Given the description of an element on the screen output the (x, y) to click on. 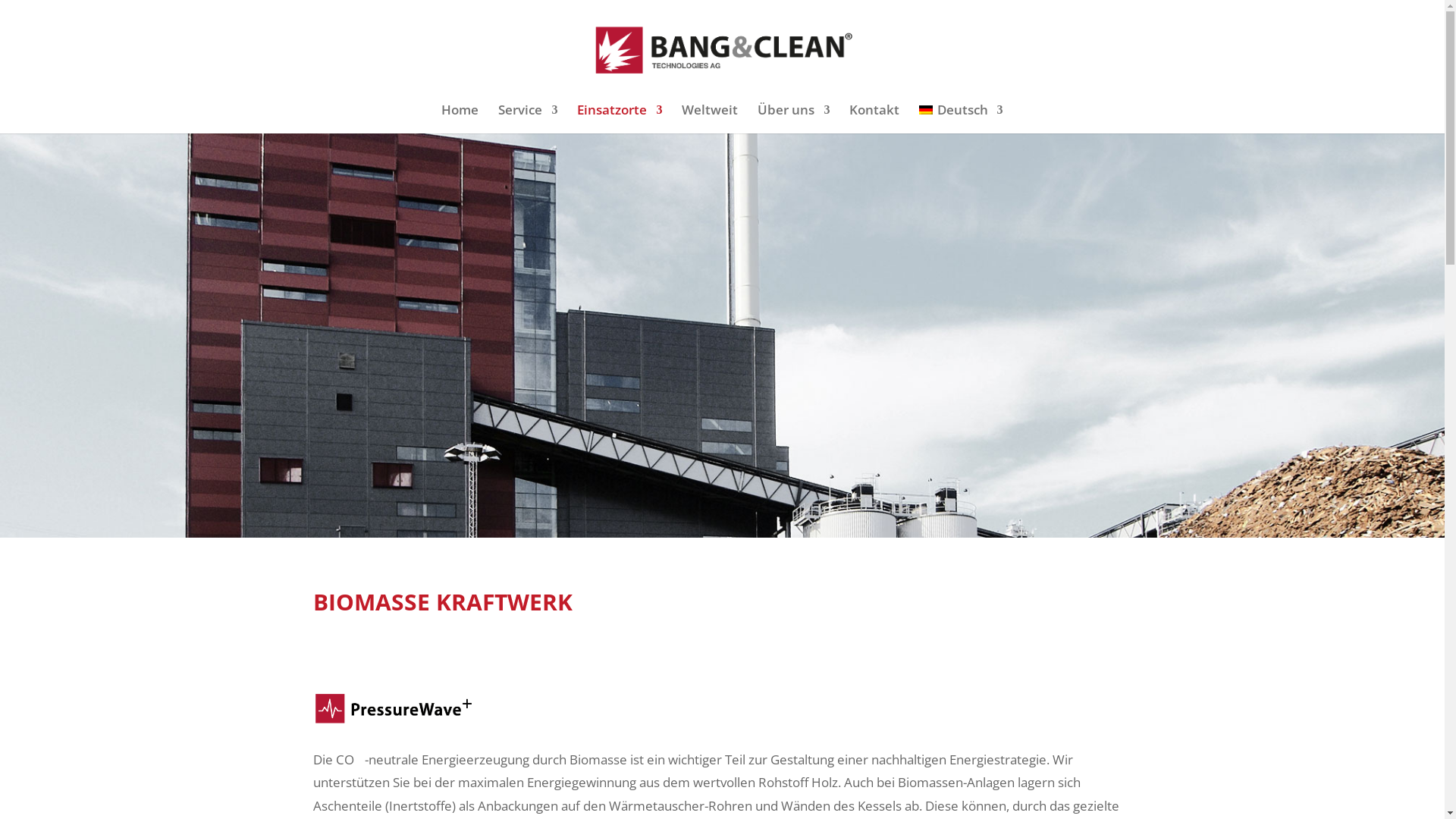
Deutsch Element type: text (960, 118)
Weltweit Element type: text (709, 118)
Home Element type: text (459, 118)
Service Element type: text (527, 118)
Kontakt Element type: text (874, 118)
Einsatzorte Element type: text (619, 118)
